Given the description of an element on the screen output the (x, y) to click on. 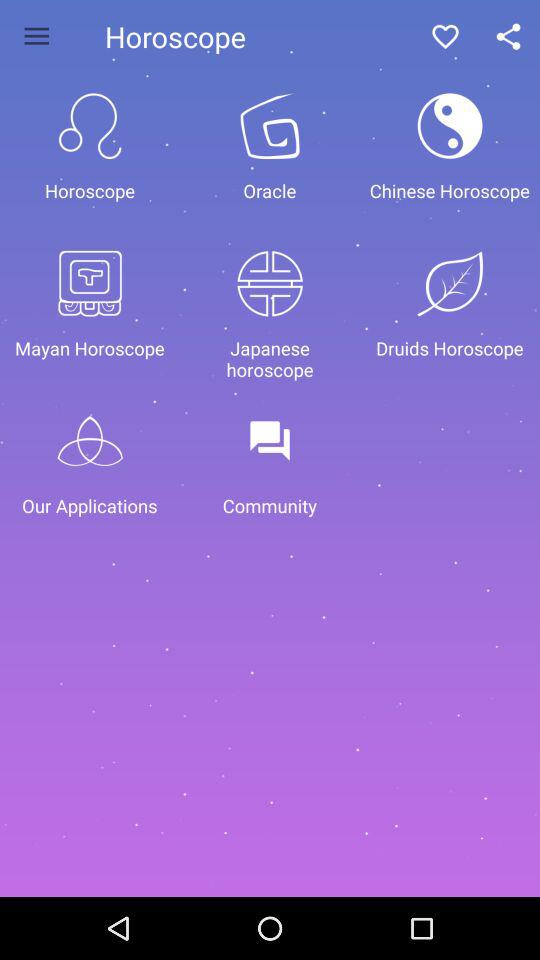
choose icon to the left of horoscope icon (36, 36)
